Given the description of an element on the screen output the (x, y) to click on. 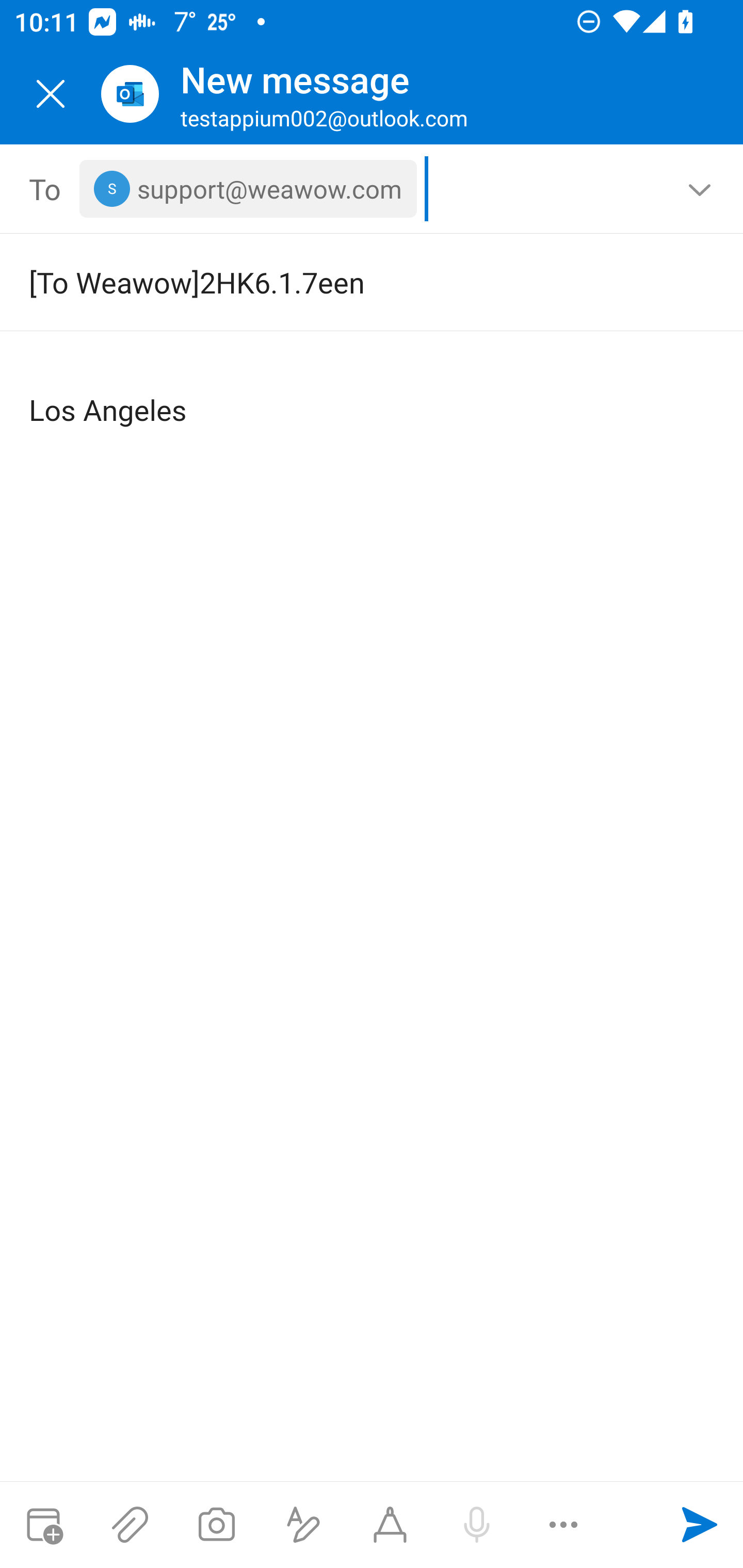
Close (50, 93)
[To Weawow]2HK6.1.7een (342, 281)

Los Angeles (372, 394)
Attach meeting (43, 1524)
Attach files (129, 1524)
Take a photo (216, 1524)
Show formatting options (303, 1524)
Start Ink compose (389, 1524)
More options (563, 1524)
Send (699, 1524)
